Given the description of an element on the screen output the (x, y) to click on. 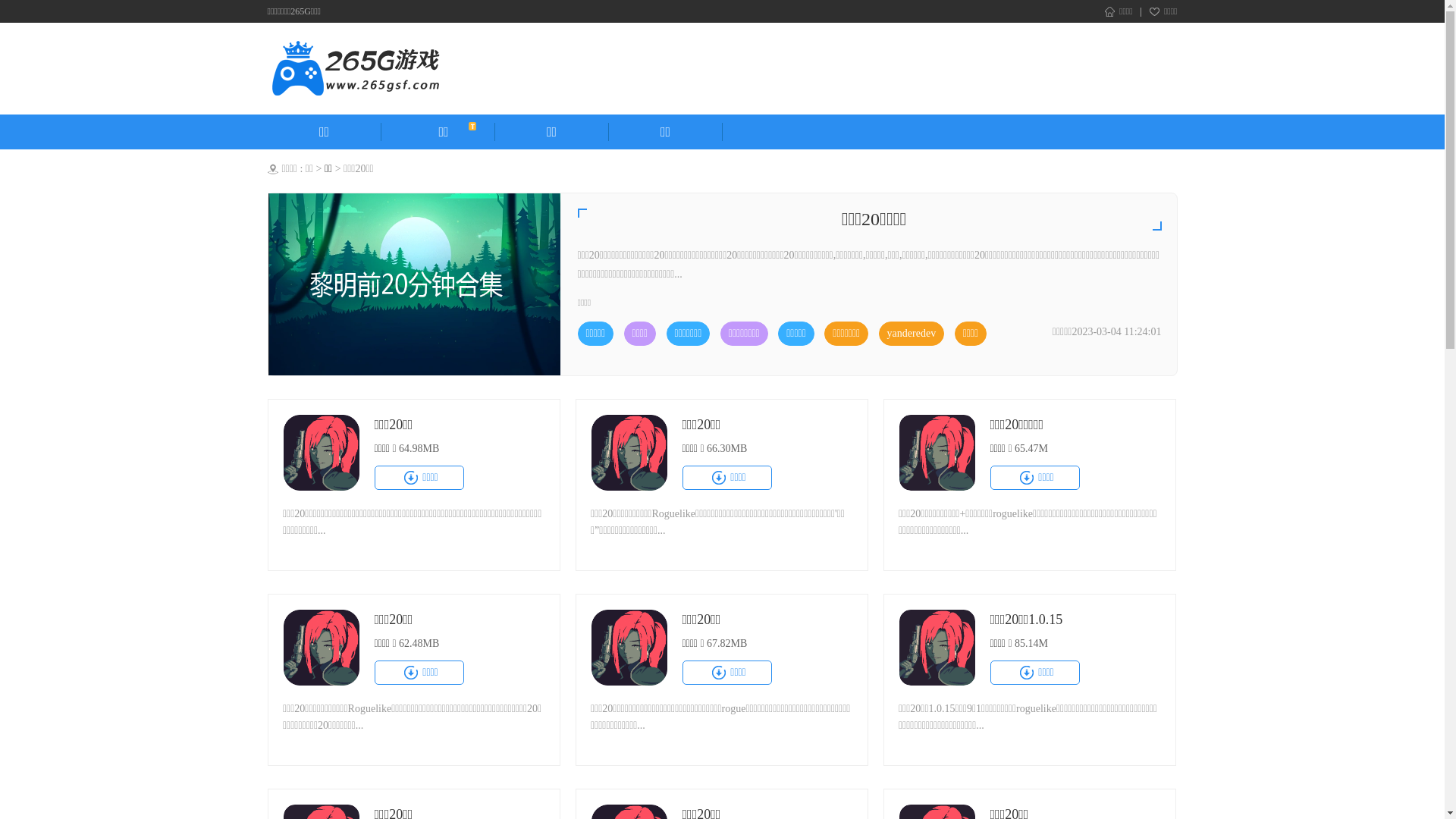
yanderedev Element type: text (911, 333)
